Given the description of an element on the screen output the (x, y) to click on. 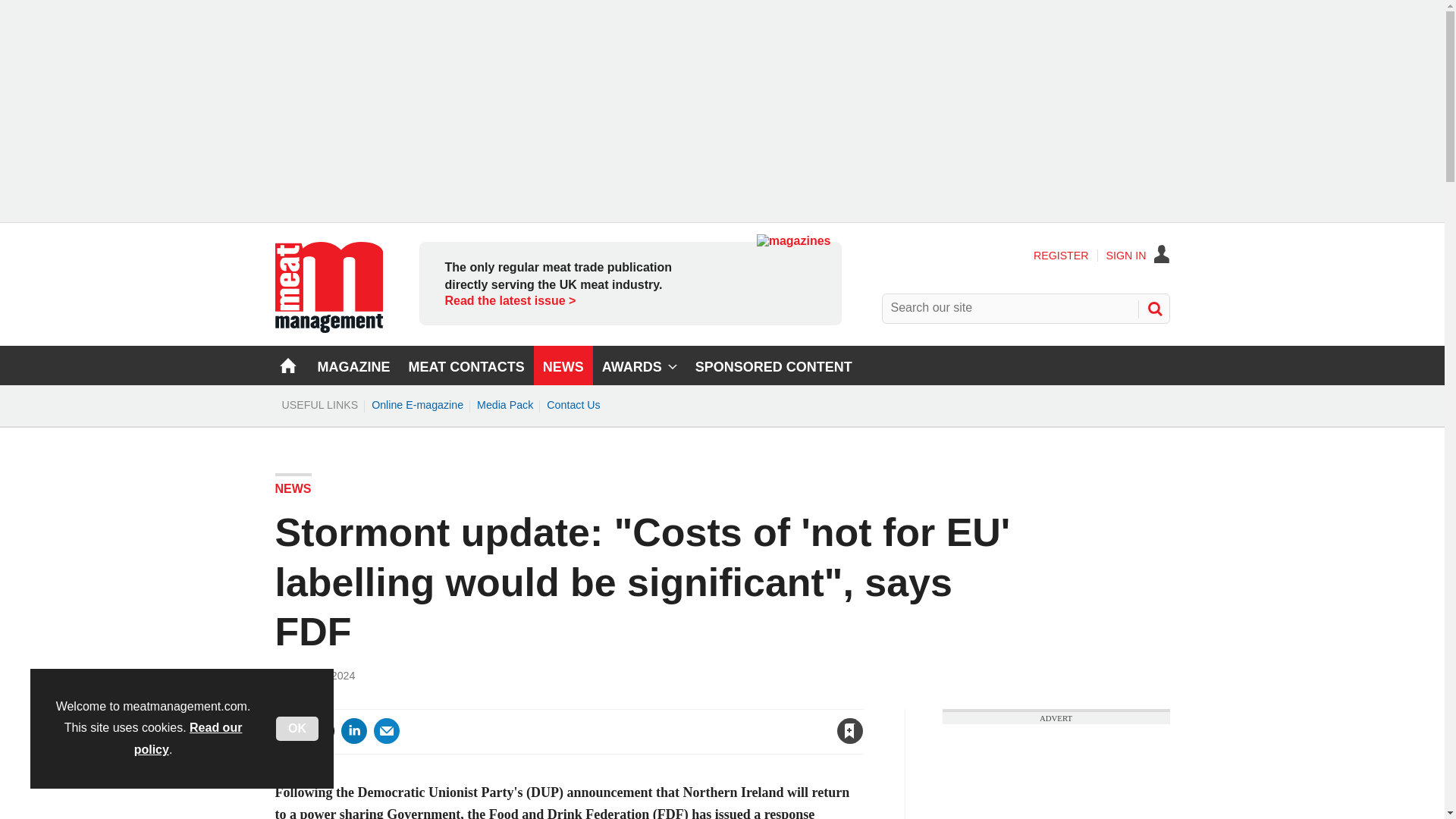
Email this article (386, 730)
SIGN IN (1138, 255)
Online E-magazine (417, 404)
Contact Us (573, 404)
Share this on LinkedIn (352, 730)
Share this on Facebook (288, 730)
MAGAZINE (352, 364)
Read our policy (188, 738)
Media Pack (505, 404)
Meat Management (328, 328)
